Given the description of an element on the screen output the (x, y) to click on. 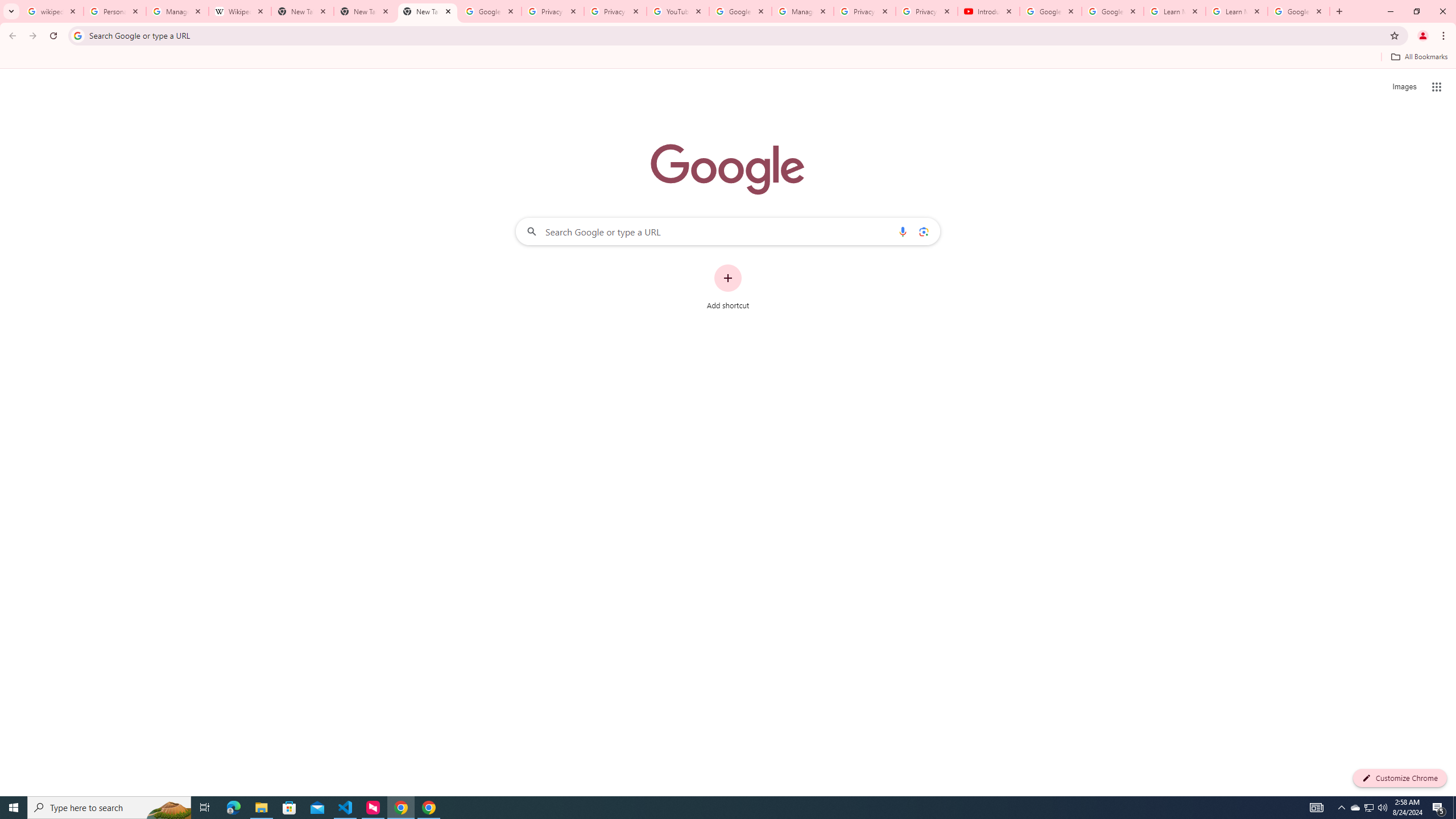
Google Account Help (740, 11)
Manage your Location History - Google Search Help (177, 11)
Google Drive: Sign-in (490, 11)
Search Google or type a URL (727, 230)
